Given the description of an element on the screen output the (x, y) to click on. 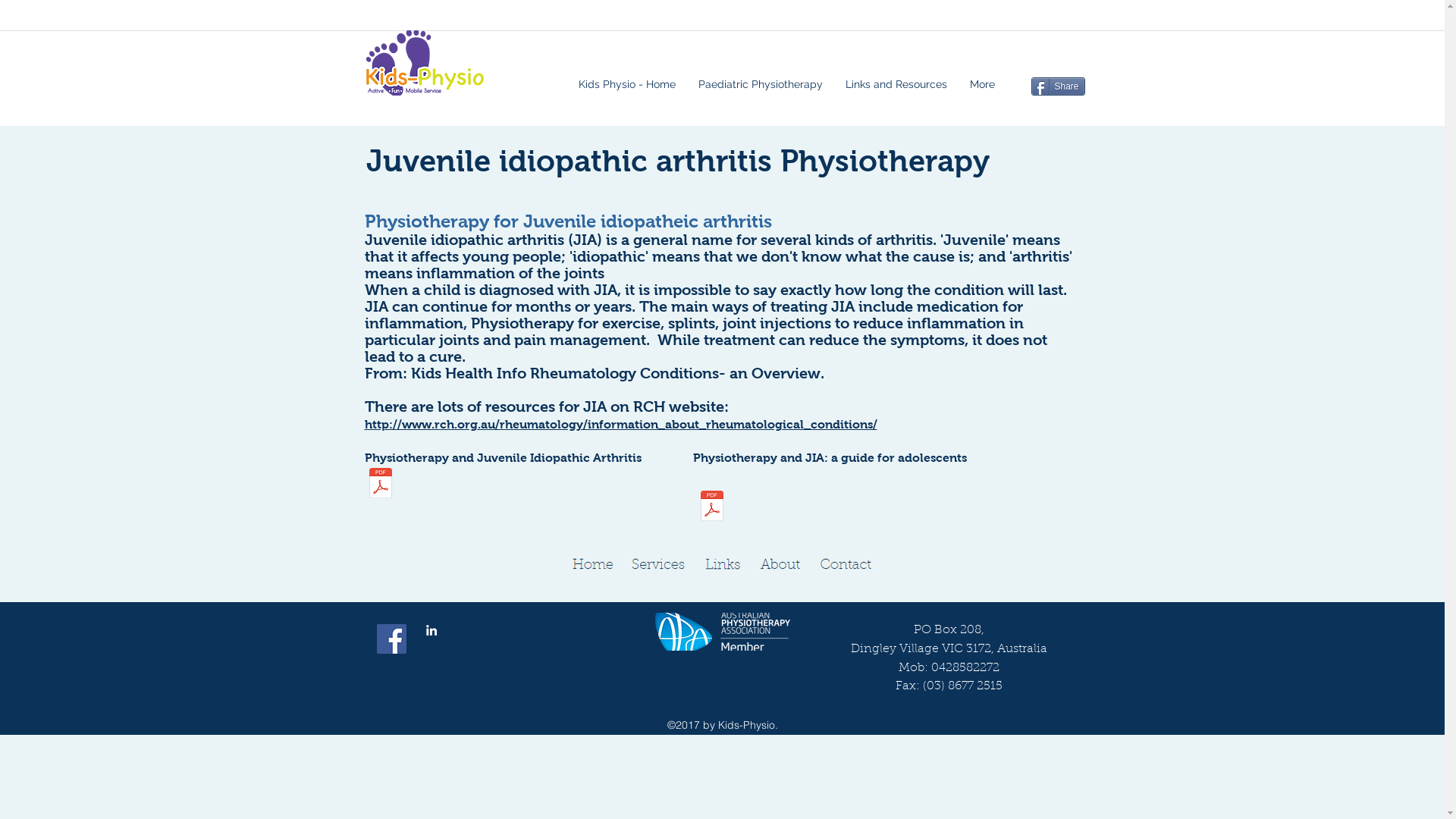
Kids Physio - Home Element type: text (627, 83)
Paediatric Physiotherapy Element type: text (760, 83)
Physiotherapy_and_JIA.pdf Element type: hover (380, 484)
Physiotherapy_and_JIA.pdf Element type: hover (711, 507)
Home page of Kids-Physio Element type: hover (591, 564)
Active, Fun, Mobile service, childrens physiotherapy Element type: hover (424, 62)
Share Element type: text (1058, 86)
Kids-Physio - Links and Resources Element type: hover (721, 564)
Links and Resources Element type: text (896, 83)
Contact Kids-Physio Element type: hover (844, 564)
Services provided by Kids-Physio Element type: hover (657, 564)
Member APA National Paediatric Group Element type: hover (722, 631)
About Kids-Physio Element type: hover (778, 564)
